Given the description of an element on the screen output the (x, y) to click on. 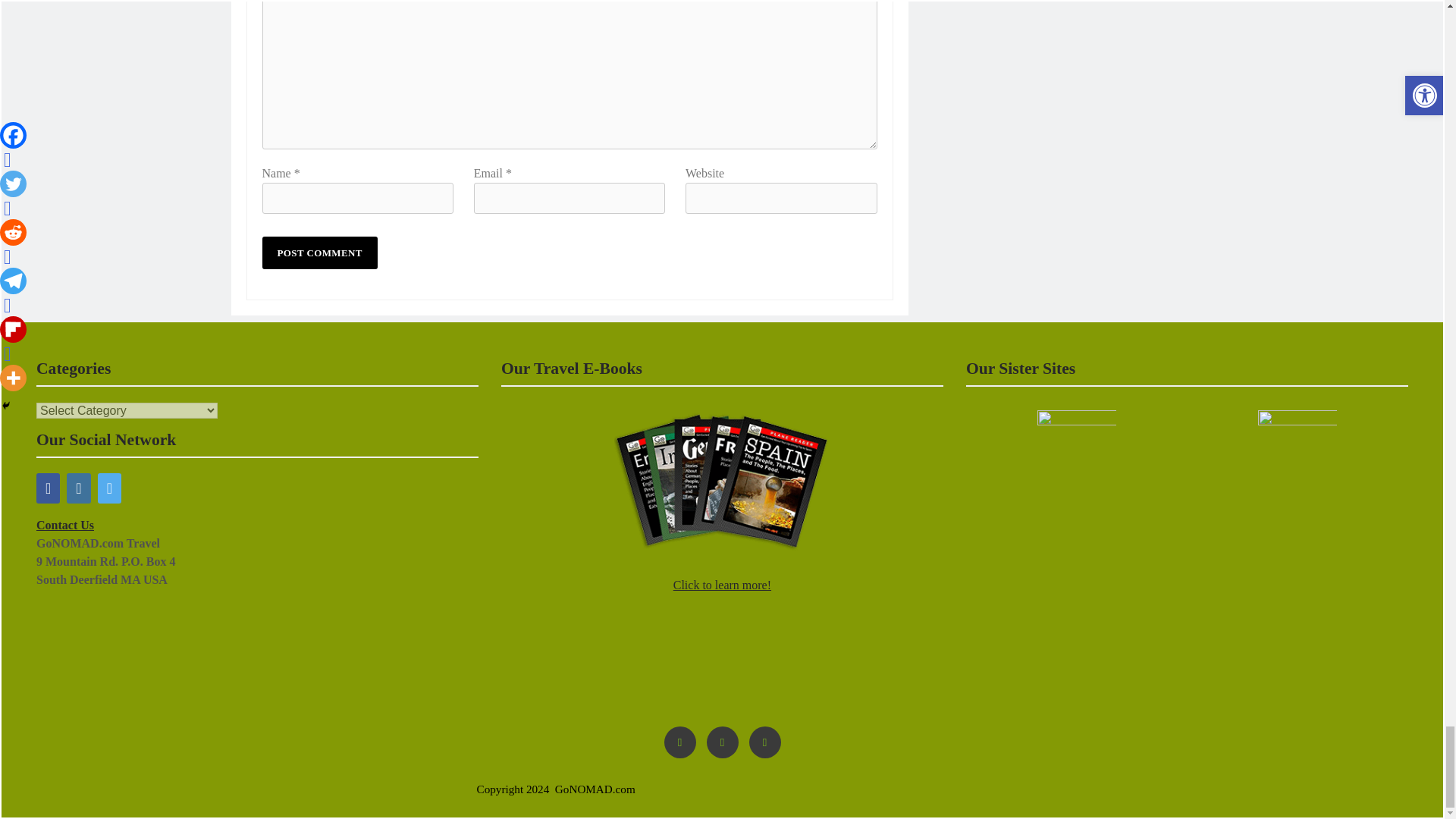
Post Comment (319, 252)
